Given the description of an element on the screen output the (x, y) to click on. 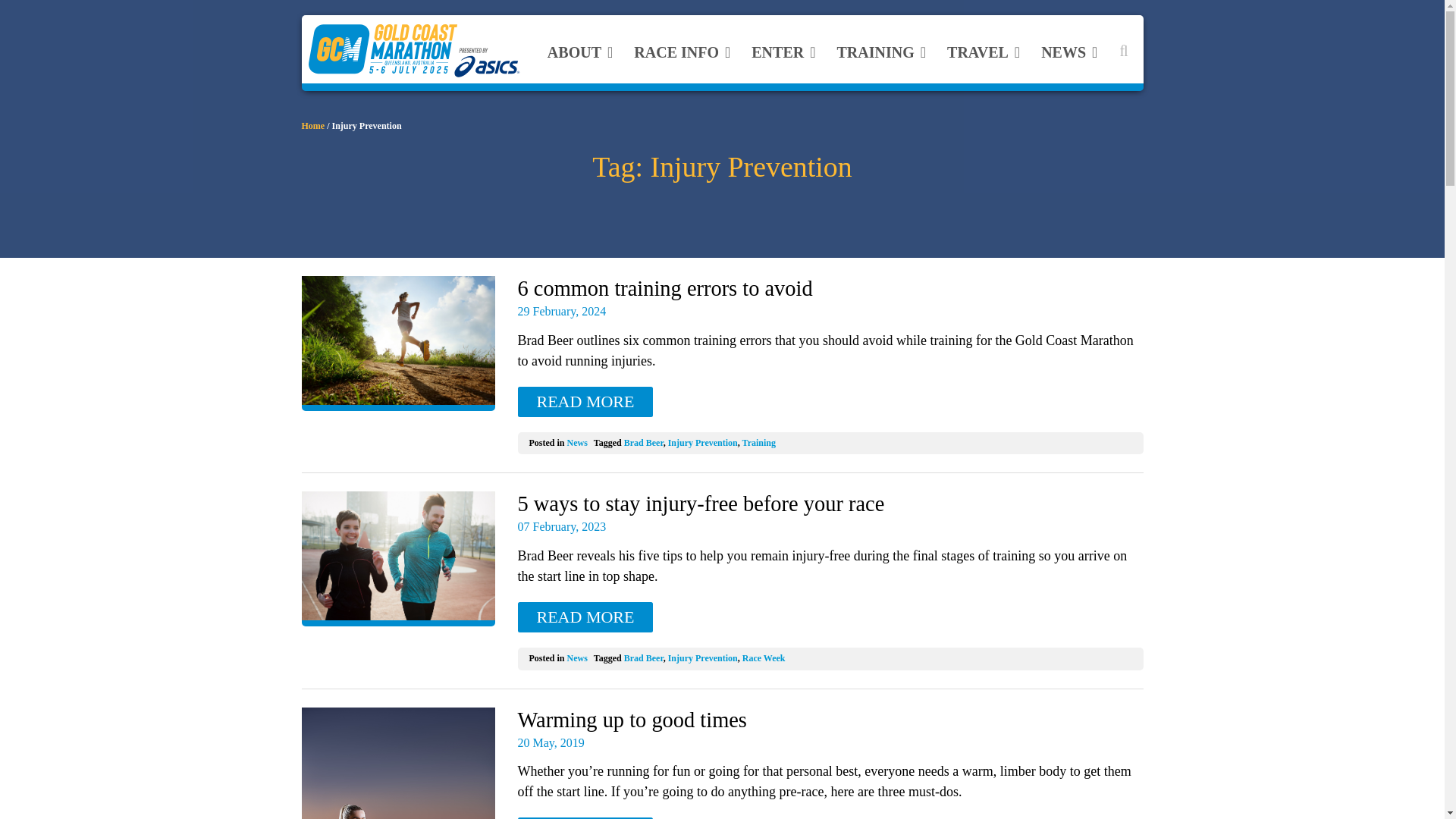
Read: 5 ways to stay injury-free before your race (398, 558)
Read: Warming up to good times (398, 763)
Read: 5 ways to stay injury-free before your race (584, 616)
Read: Warming up to good times (584, 818)
Read: 6 common training errors to avoid (398, 343)
Read: 6 common training errors to avoid (584, 401)
